Given the description of an element on the screen output the (x, y) to click on. 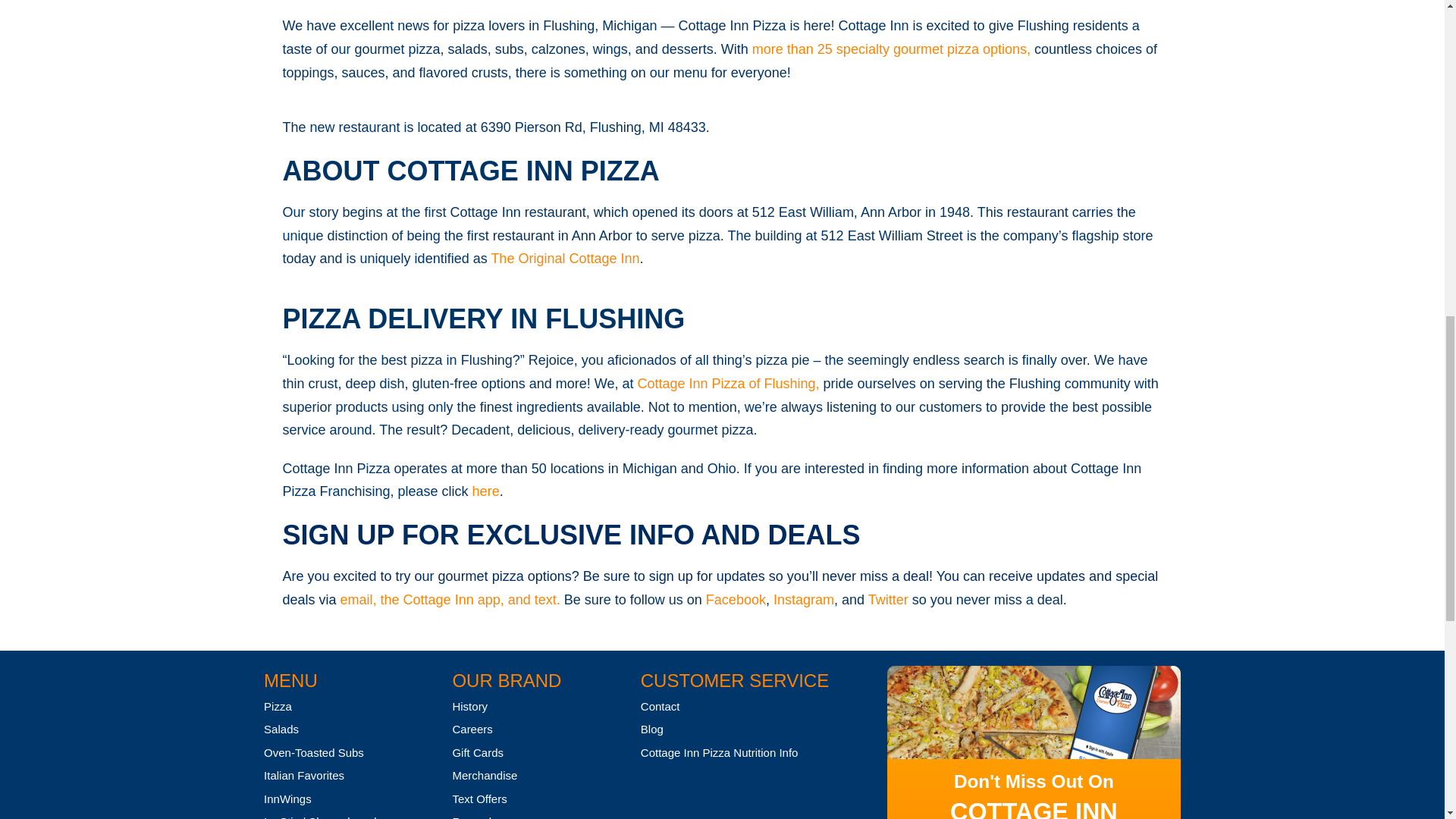
Oven-Toasted Subs (313, 752)
The Original Cottage Inn (564, 258)
Text Offers (478, 798)
here (485, 491)
Salads (280, 728)
Pizza (277, 706)
Merchandise (483, 775)
more than 25 specialty gourmet pizza options, (892, 48)
Salads (280, 728)
History (469, 706)
Facebook (735, 599)
Careers (471, 728)
InnWings (287, 798)
Twitter (887, 599)
Menu (290, 680)
